Given the description of an element on the screen output the (x, y) to click on. 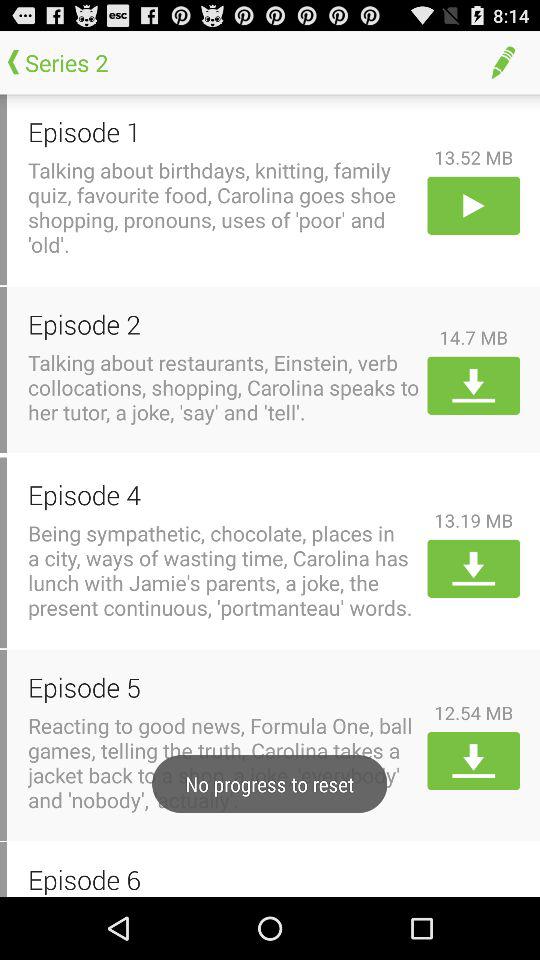
choose the icon to the left of the 13.19 mb app (224, 494)
